Given the description of an element on the screen output the (x, y) to click on. 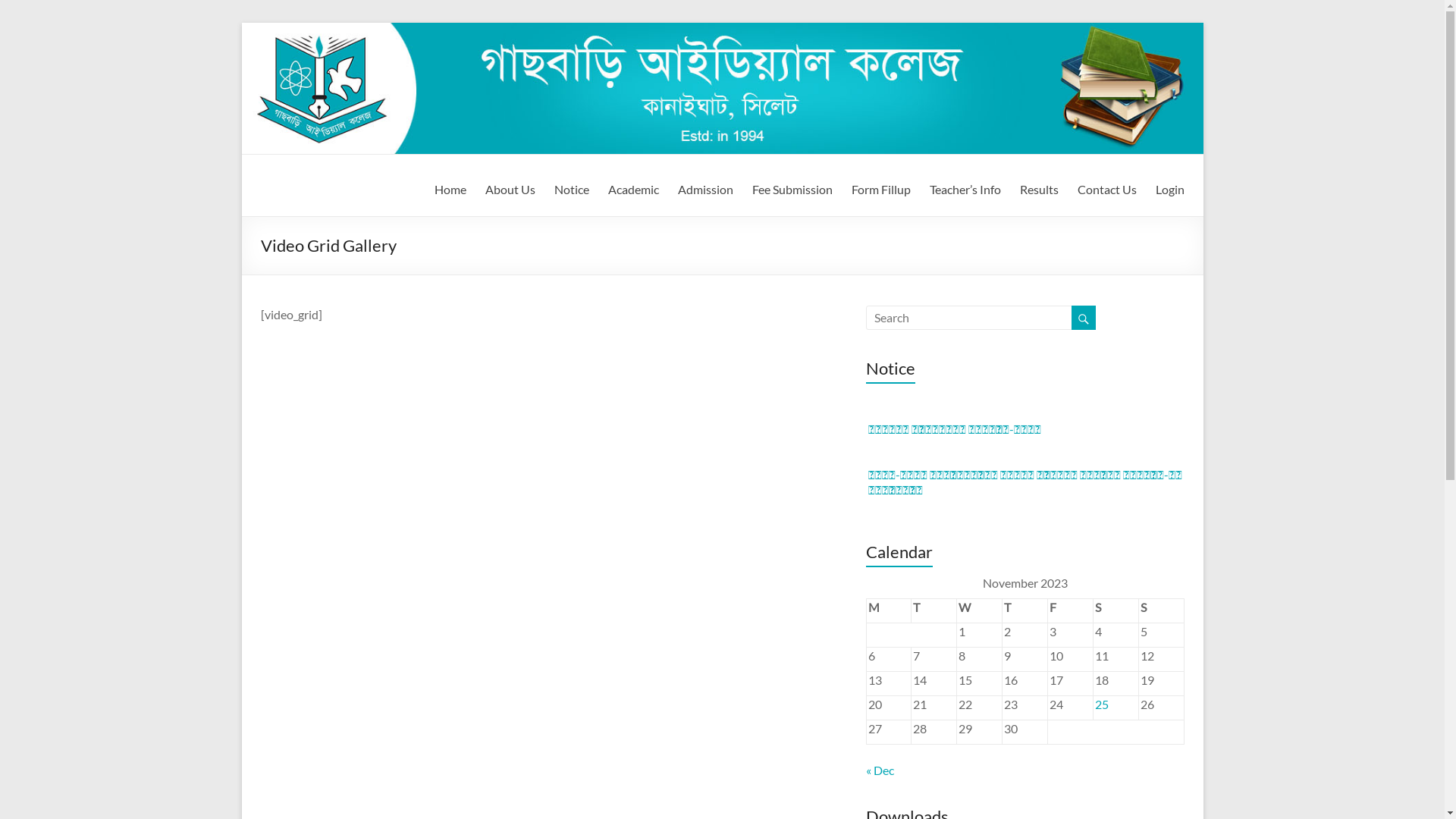
Academic Element type: text (633, 186)
Admission Element type: text (705, 186)
Form Fillup Element type: text (880, 186)
Results Element type: text (1038, 186)
About Us Element type: text (510, 186)
Login Element type: text (1169, 186)
Home Element type: text (449, 186)
Notice Element type: text (570, 186)
Fee Submission Element type: text (792, 186)
Contact Us Element type: text (1105, 186)
